Given the description of an element on the screen output the (x, y) to click on. 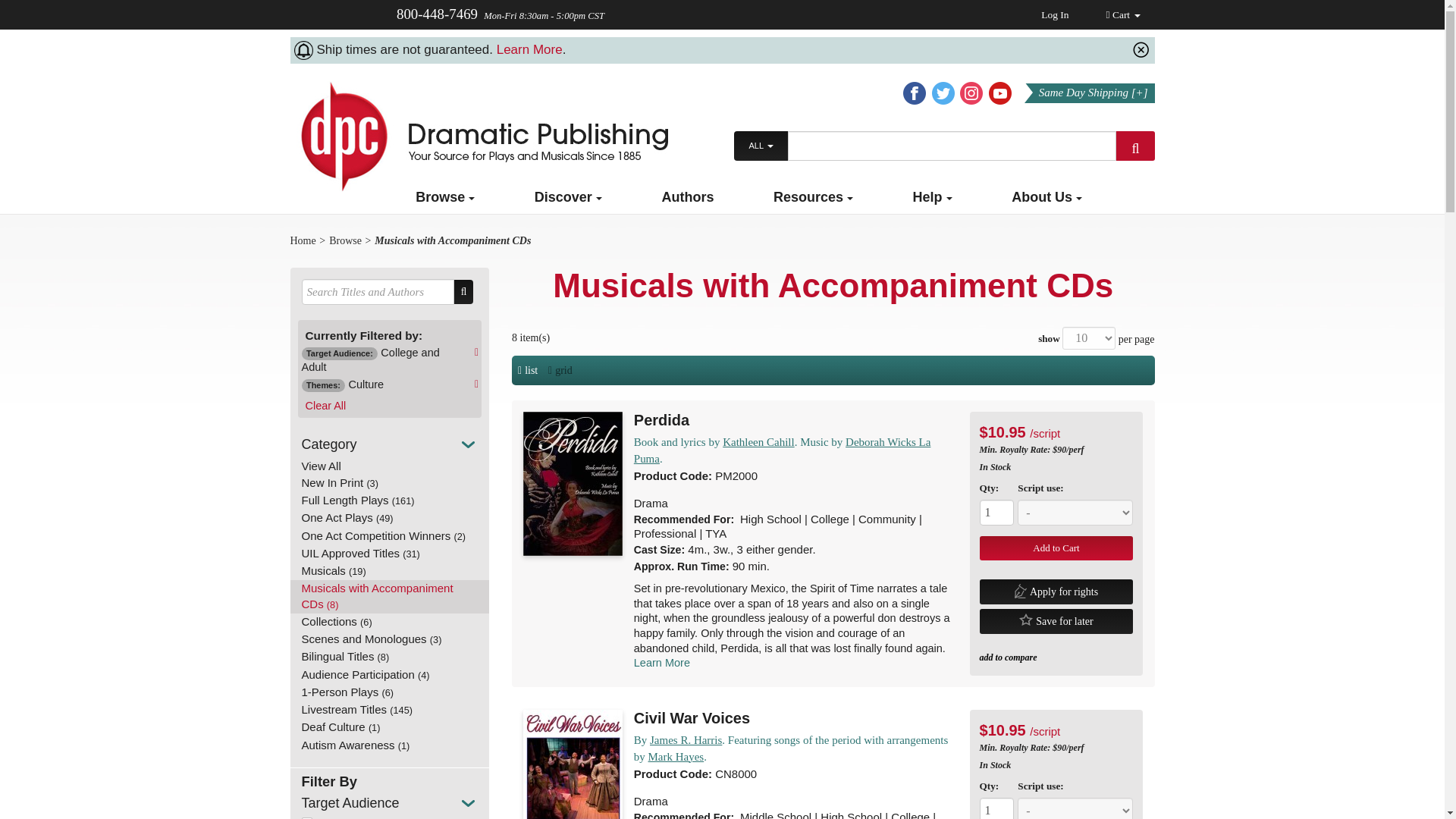
New In Print (389, 483)
Log In (1054, 14)
Search (1135, 145)
UIL Approved Titles (389, 553)
800-448-7469 (438, 13)
Dramatic Publishing (477, 135)
1-Person Plays (389, 692)
Audience Participation (389, 674)
Resources (813, 196)
Musicals (389, 570)
